Given the description of an element on the screen output the (x, y) to click on. 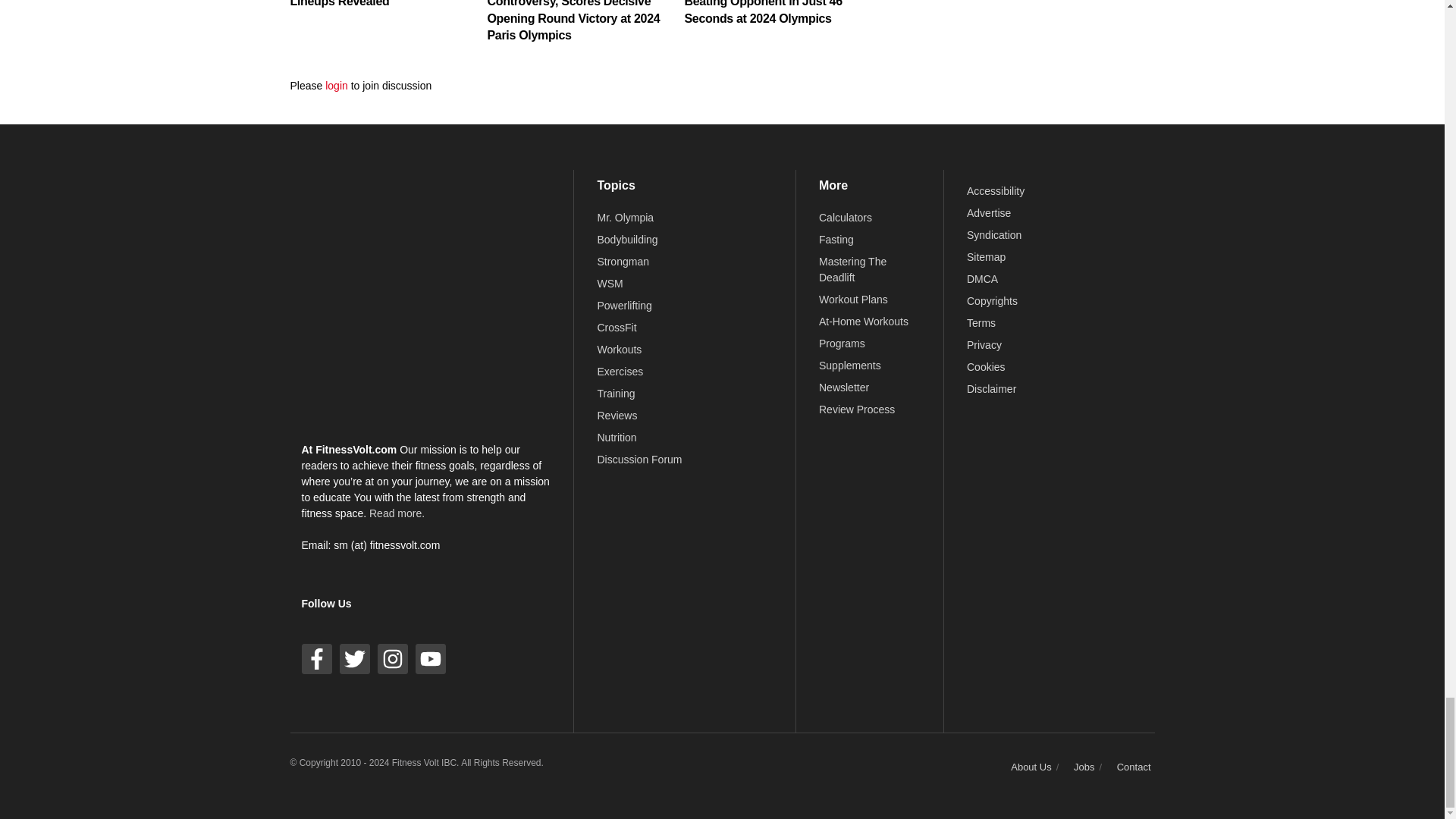
Read more about Fitness Volt (397, 512)
2019 Mr. Olympia News (624, 217)
Accessibility Conformance Status (995, 191)
